Given the description of an element on the screen output the (x, y) to click on. 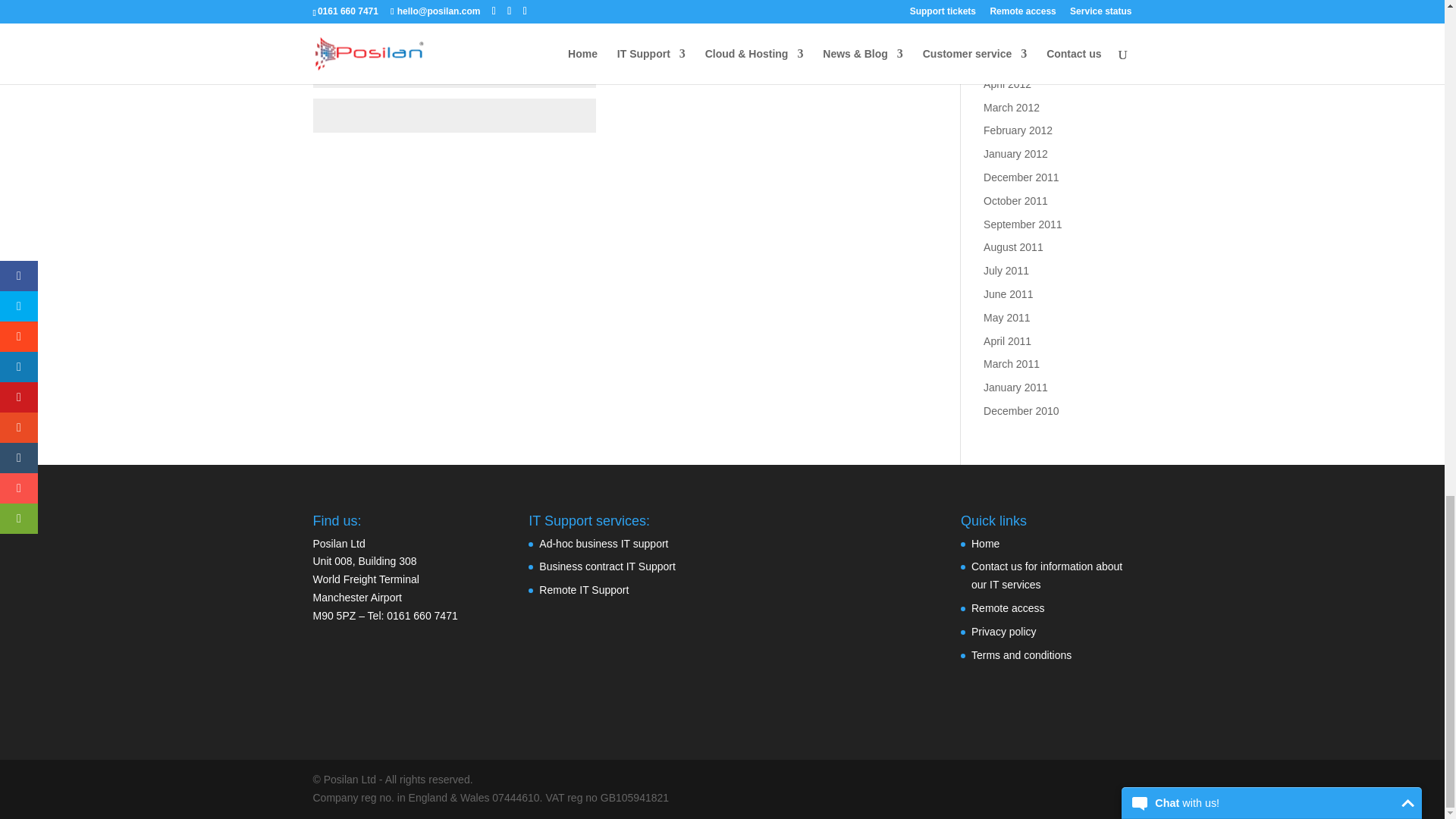
Submit Comment (840, 161)
